Given the description of an element on the screen output the (x, y) to click on. 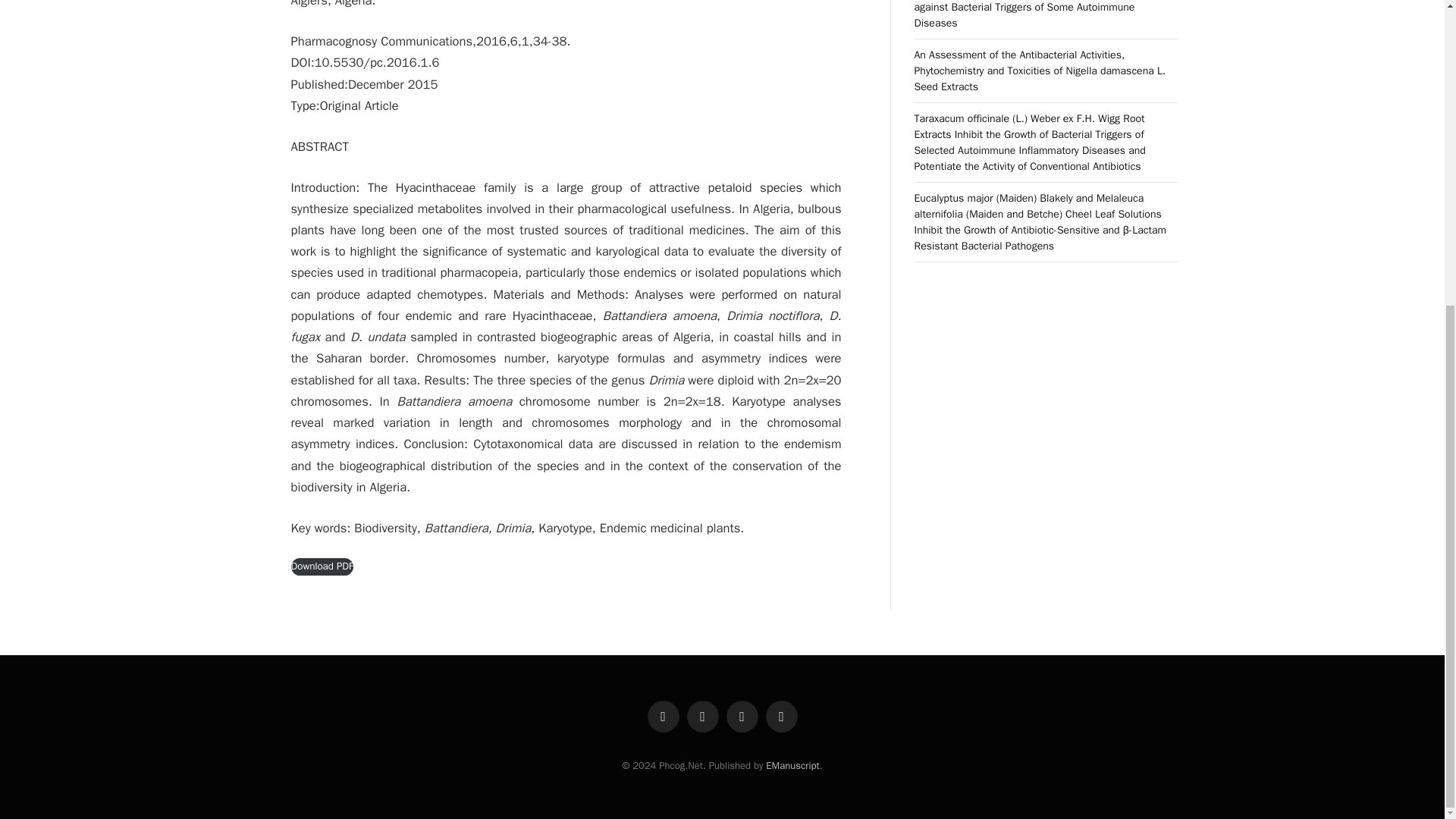
Download PDF (322, 566)
